Given the description of an element on the screen output the (x, y) to click on. 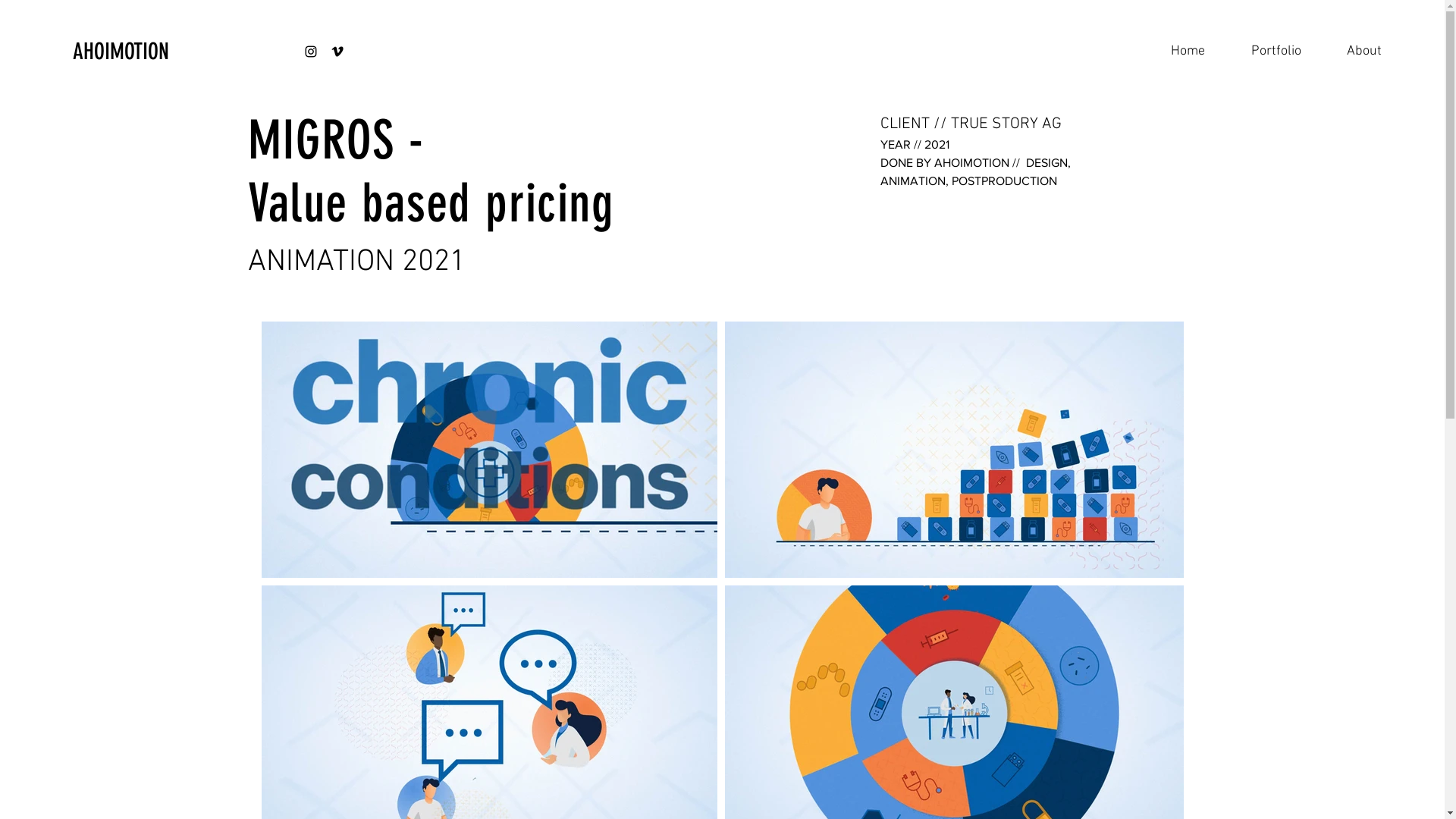
AHOIMOTION Element type: text (152, 51)
About Element type: text (1352, 51)
Portfolio Element type: text (1264, 51)
Home Element type: text (1175, 51)
